Given the description of an element on the screen output the (x, y) to click on. 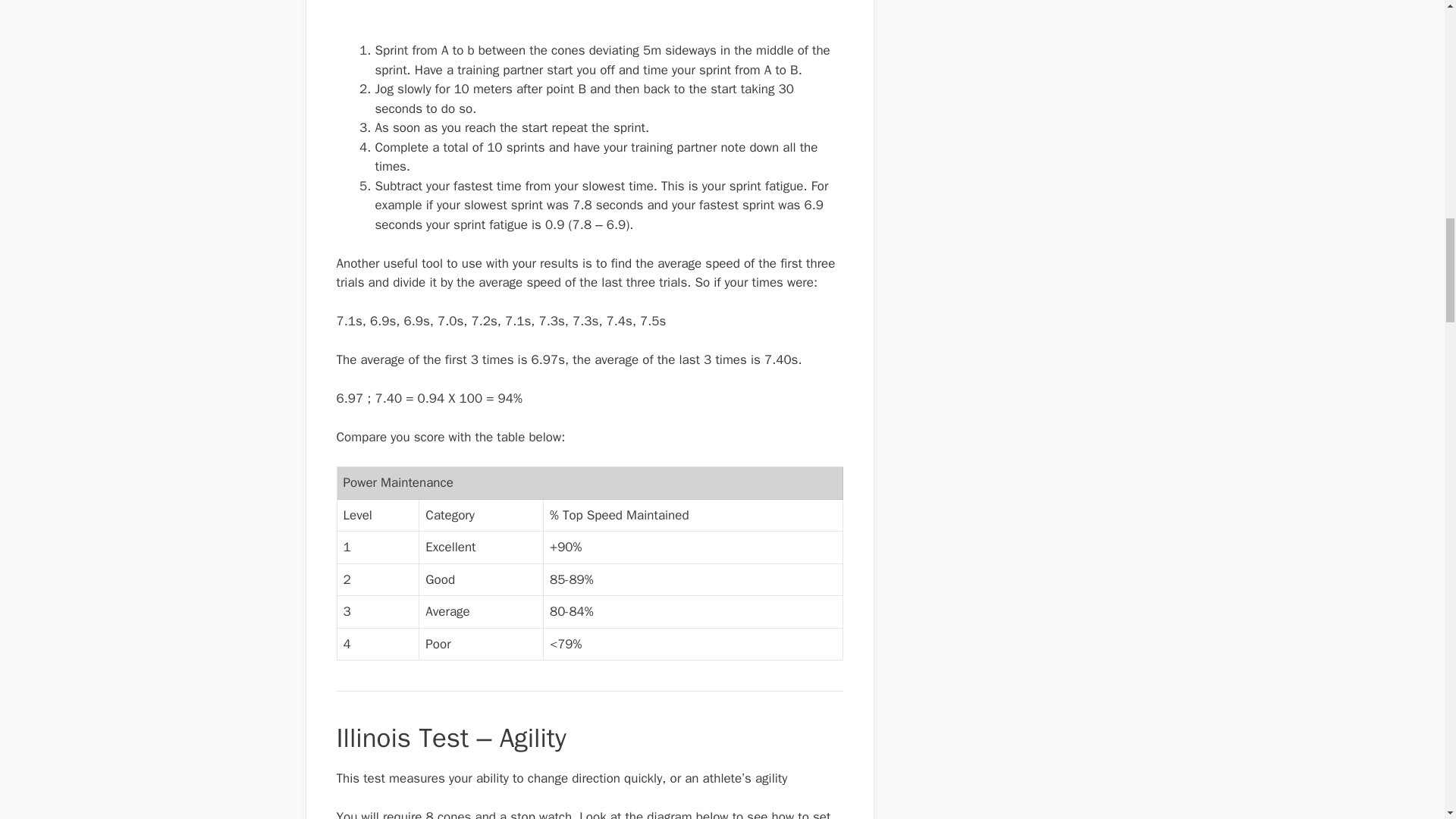
Speed And Power Tests 1 (414, 18)
